Given the description of an element on the screen output the (x, y) to click on. 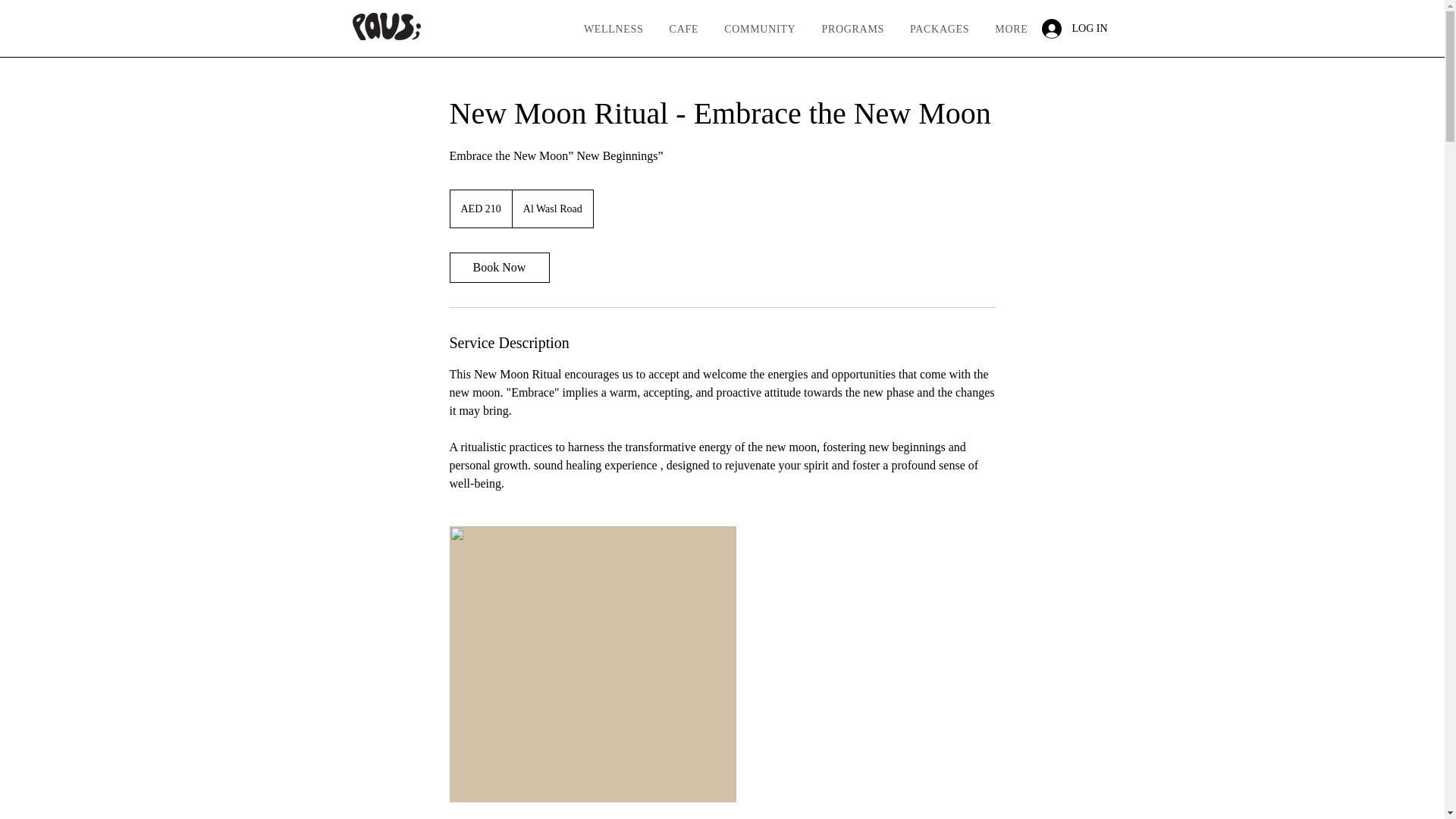
LOG IN (1058, 28)
CAFE (683, 29)
Book Now (498, 267)
PACKAGES (939, 29)
PROGRAMS (852, 29)
WELLNESS (613, 29)
COMMUNITY (739, 29)
